Given the description of an element on the screen output the (x, y) to click on. 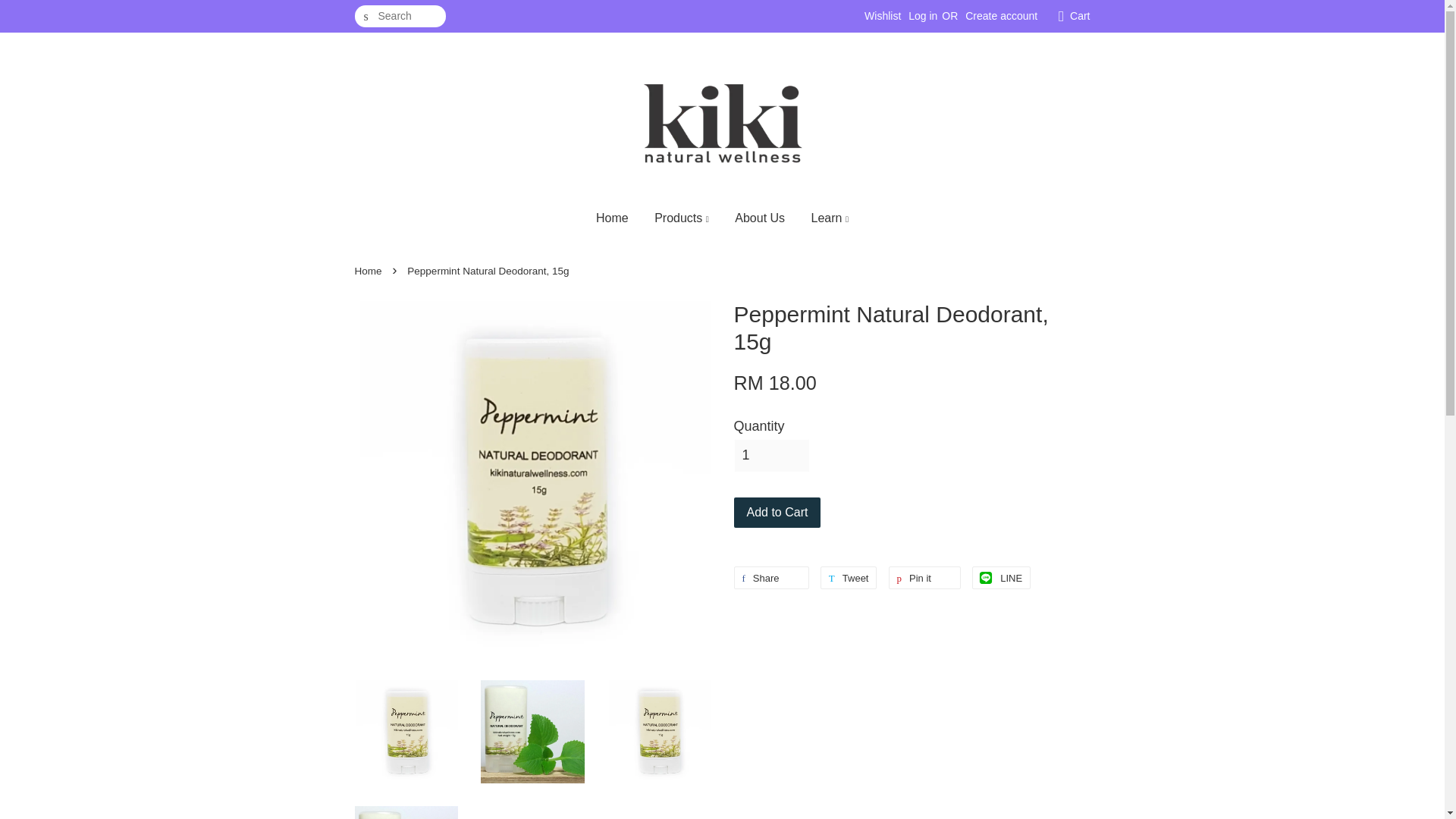
Back to the homepage (370, 270)
Wishlist (882, 15)
Cart (1079, 16)
Create account (1000, 15)
Log in (922, 15)
1 (771, 455)
icon-line (985, 577)
Search (366, 16)
